Given the description of an element on the screen output the (x, y) to click on. 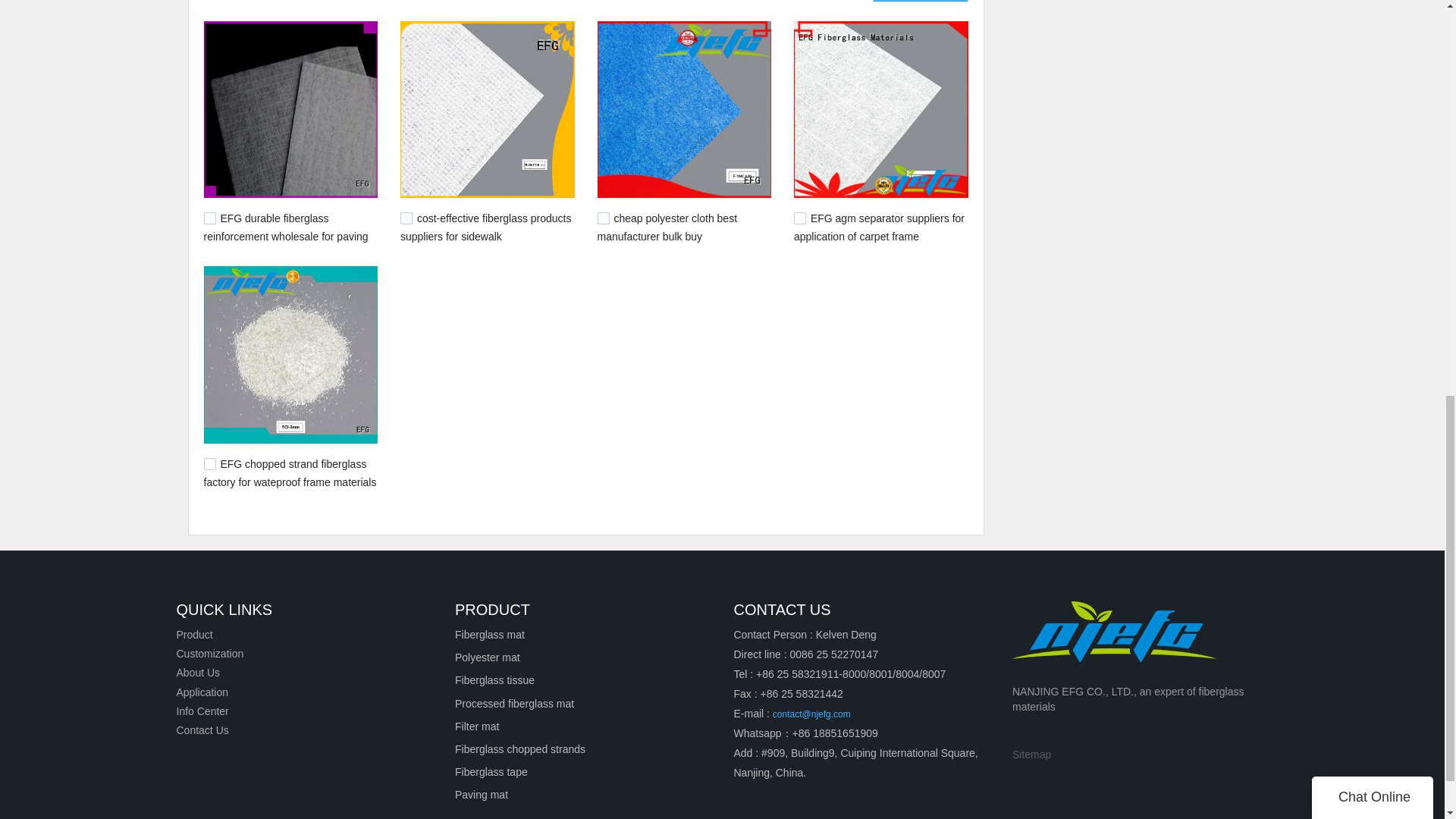
EFG agm separator suppliers for application of carpet frame (878, 227)
cheap polyester cloth best manufacturer bulk buy (667, 227)
1538 (209, 218)
830 (799, 218)
839 (603, 218)
793 (209, 463)
1534 (406, 218)
cost-effective fiberglass products suppliers for sidewalk (486, 227)
